Given the description of an element on the screen output the (x, y) to click on. 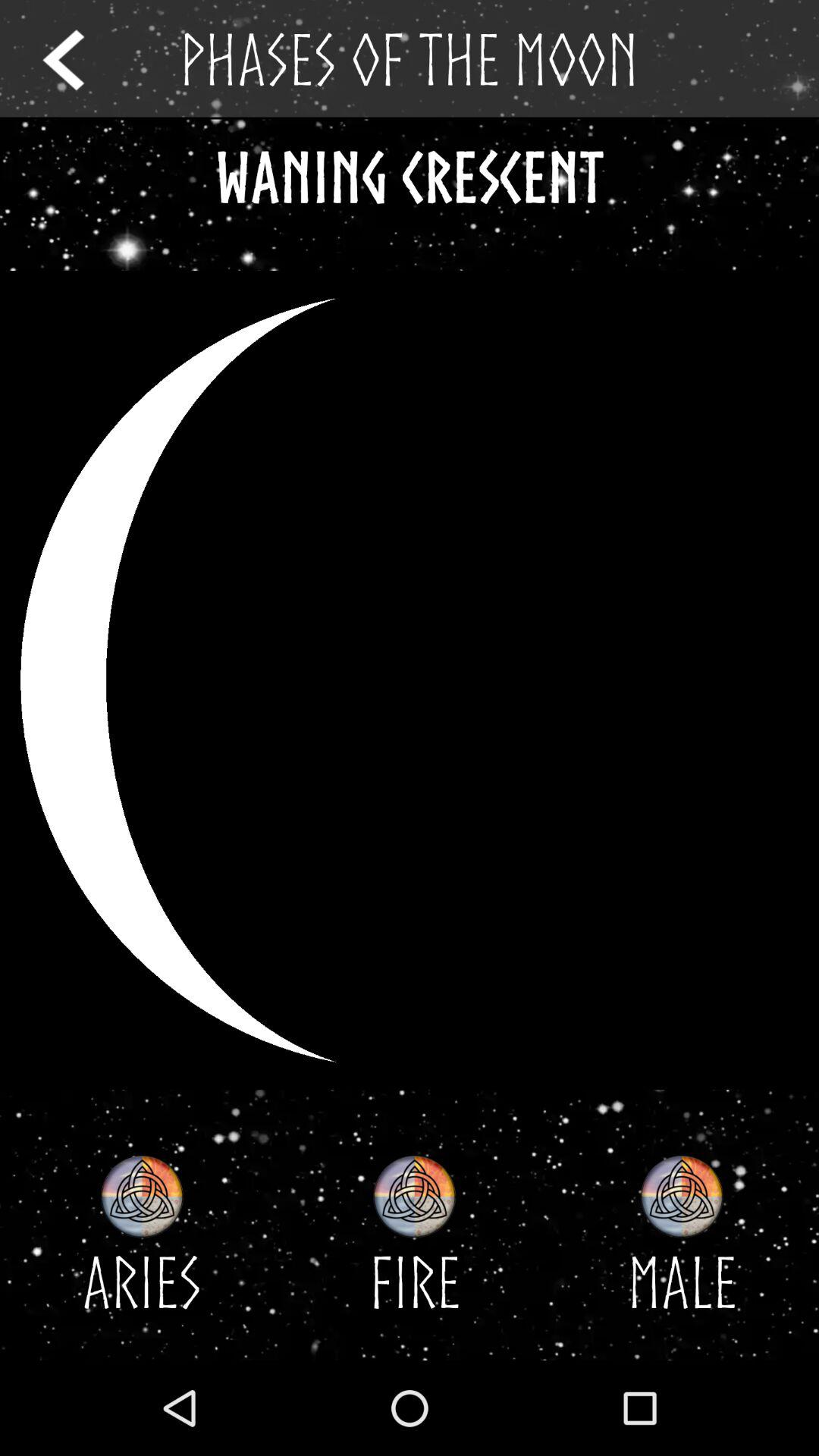
go back (77, 59)
